Given the description of an element on the screen output the (x, y) to click on. 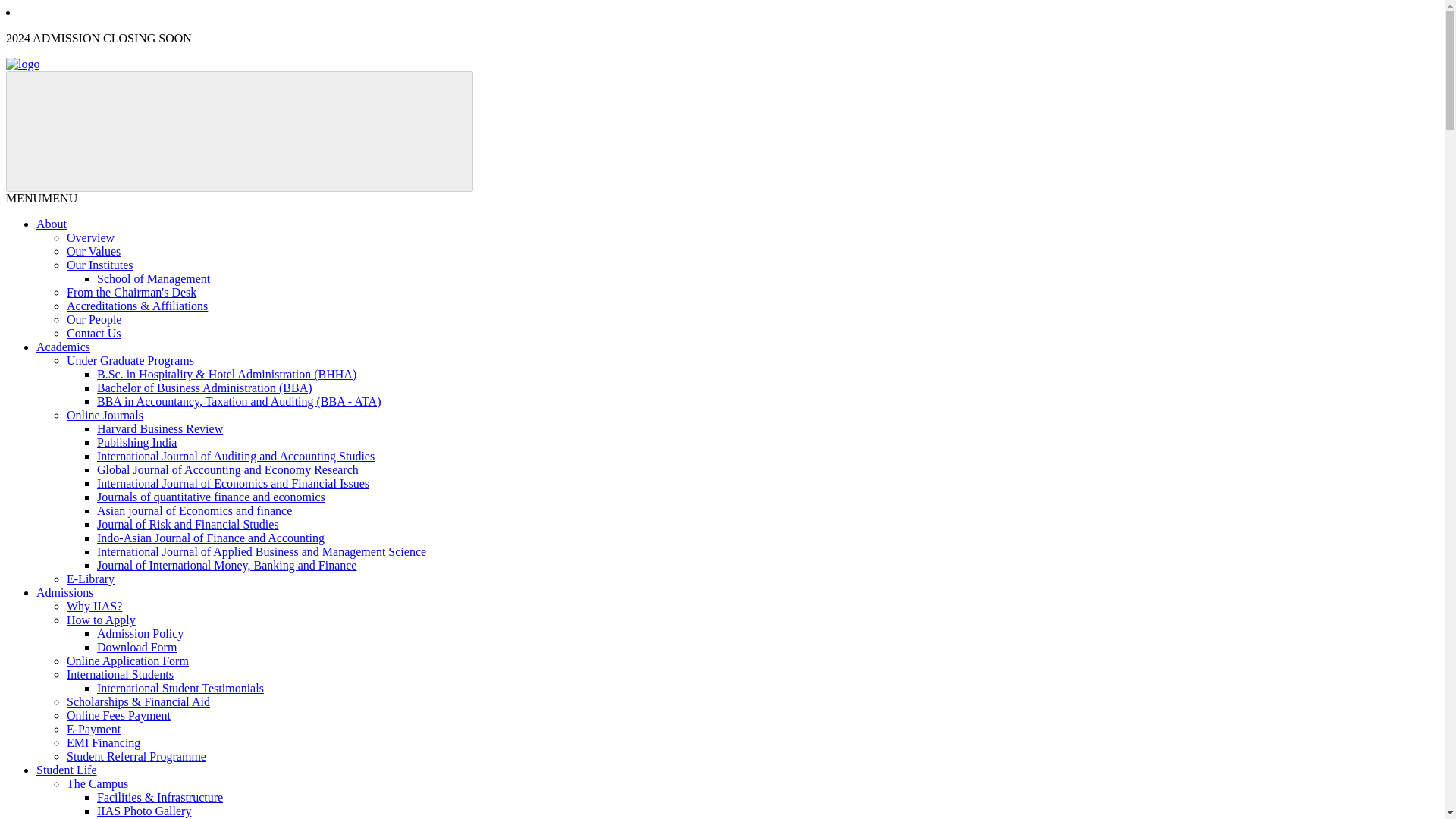
Admissions (65, 592)
2024 ADMISSION CLOSING SOON (98, 38)
Harvard Business Review (159, 428)
From the Chairman's Desk (131, 291)
Under Graduate Programs (129, 359)
International Students (119, 674)
About (51, 223)
Overview (90, 237)
School of Management (153, 278)
Journal of Risk and Financial Studies (188, 523)
